Given the description of an element on the screen output the (x, y) to click on. 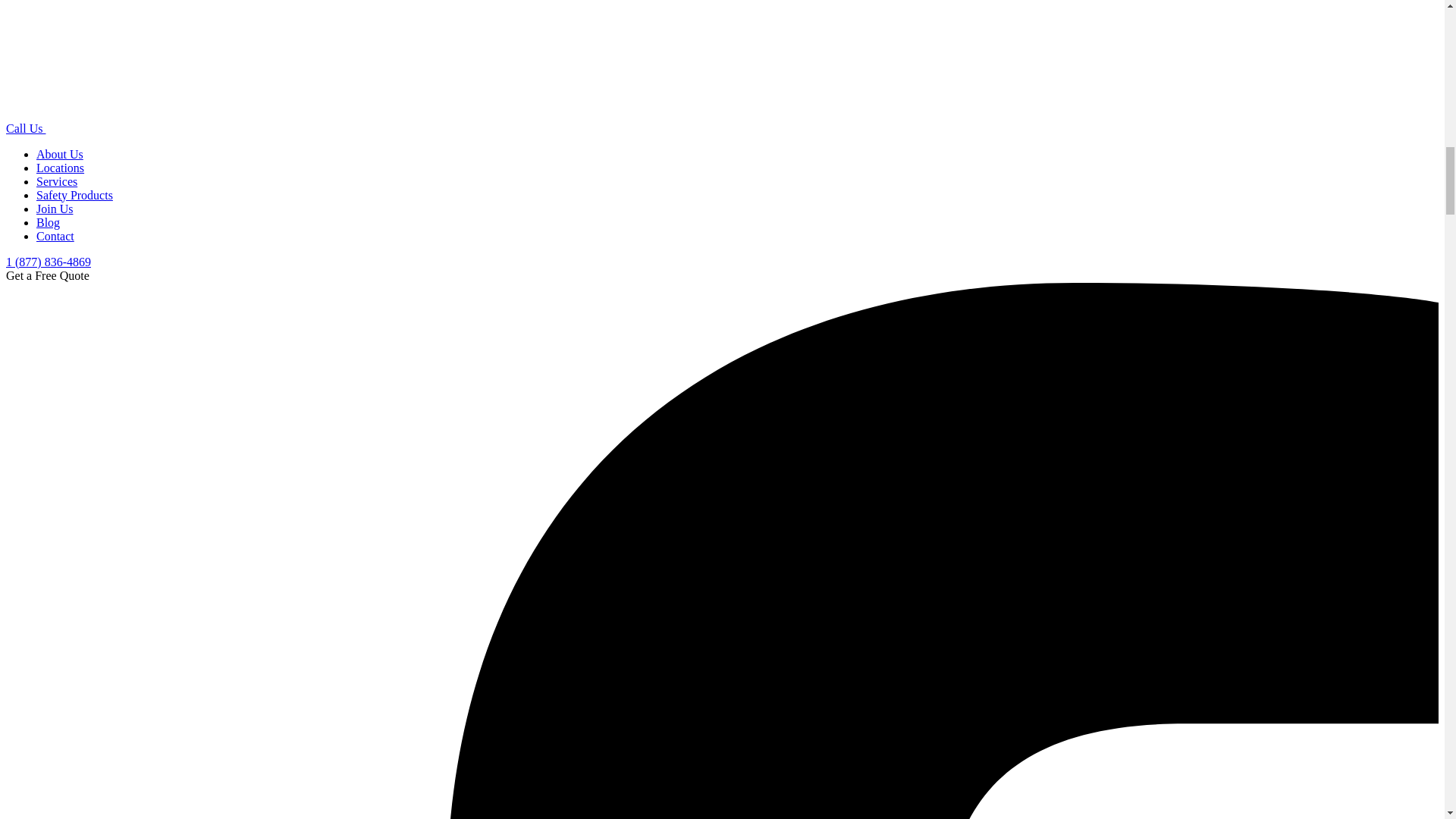
Call Us (25, 128)
About Us (59, 154)
Blog (47, 222)
Services (56, 181)
Locations (60, 167)
Contact (55, 236)
Join Us (54, 208)
Safety Products (74, 195)
